Given the description of an element on the screen output the (x, y) to click on. 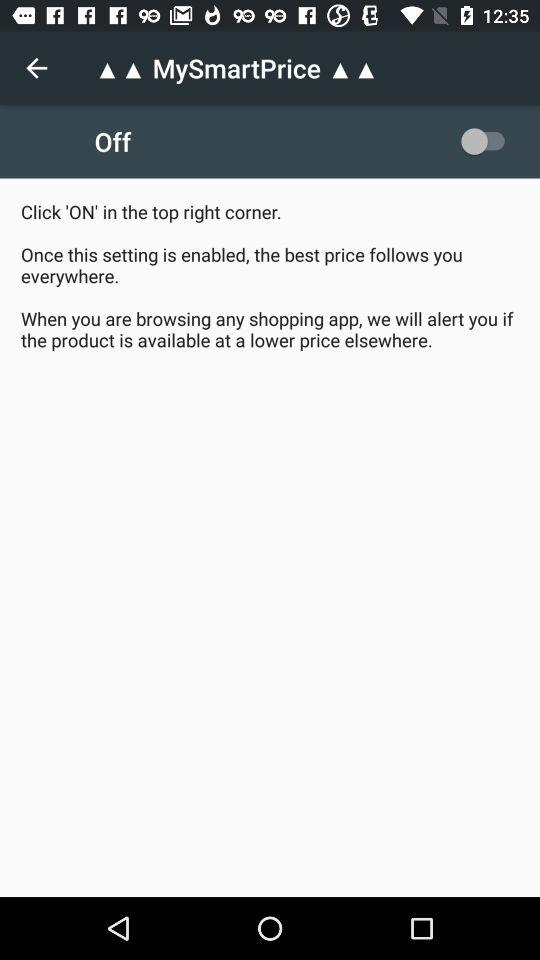
tap the app above the click on in icon (36, 68)
